Given the description of an element on the screen output the (x, y) to click on. 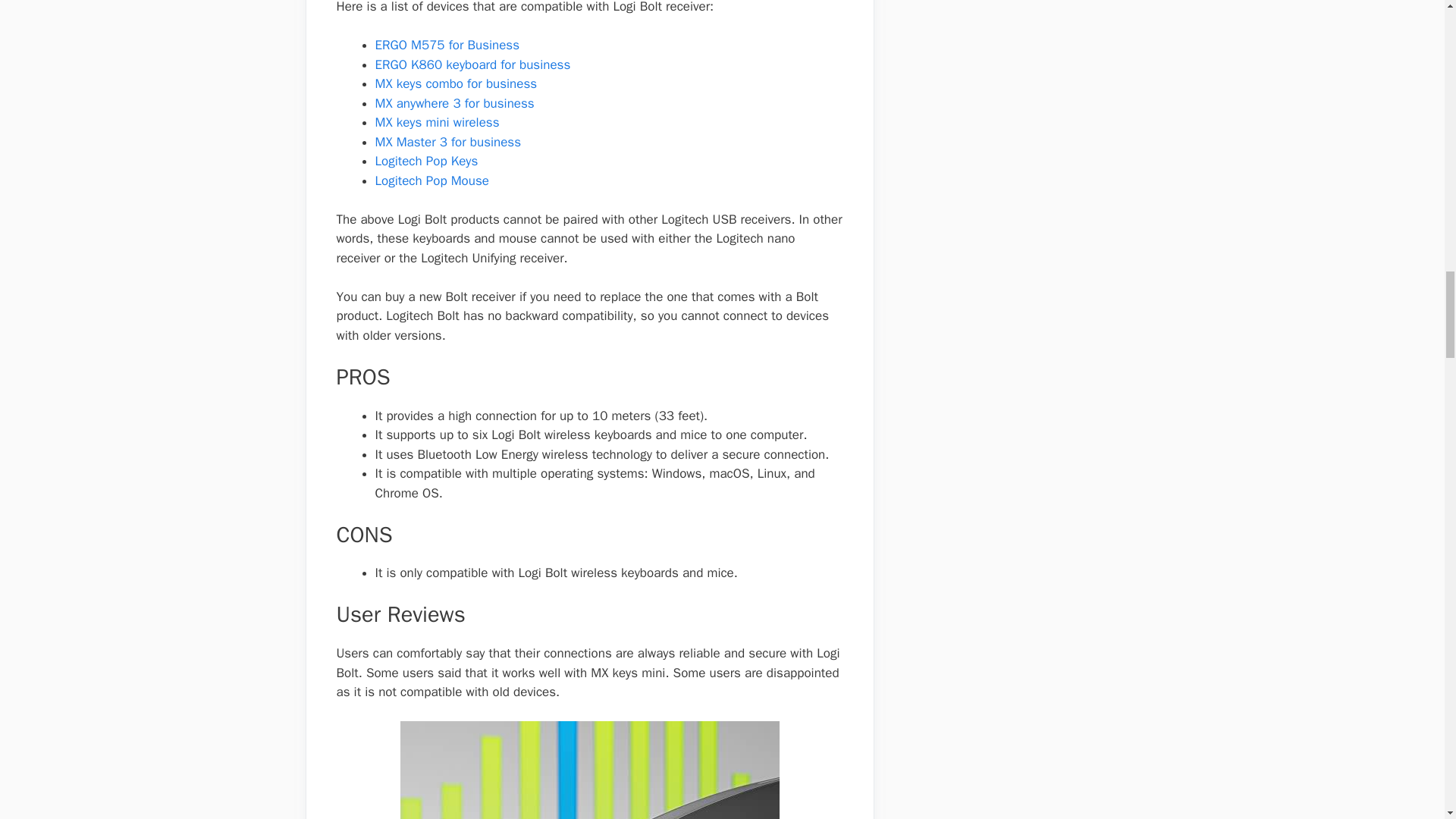
Logitech Pop Keys (425, 160)
MX keys combo for business (455, 83)
ERGO M575 for Business (446, 44)
MX keys mini wireless (436, 122)
MX anywhere 3 for business (454, 103)
ERGO K860 keyboard for business (472, 64)
Logitech Pop Mouse (430, 180)
MX Master 3 for business (447, 141)
